Given the description of an element on the screen output the (x, y) to click on. 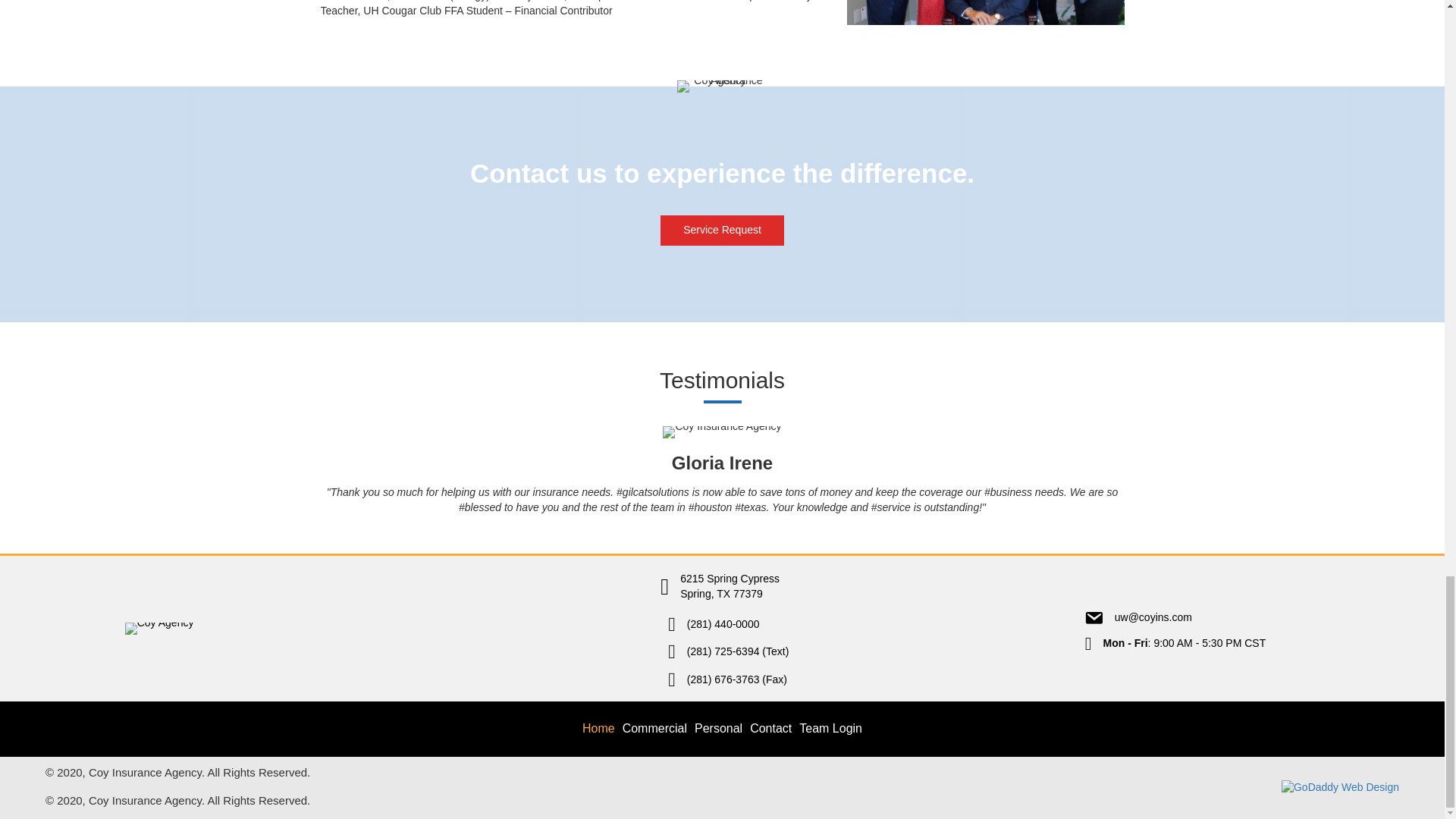
COY AGENCY (159, 628)
Coy Insurance Agency (721, 431)
